Given the description of an element on the screen output the (x, y) to click on. 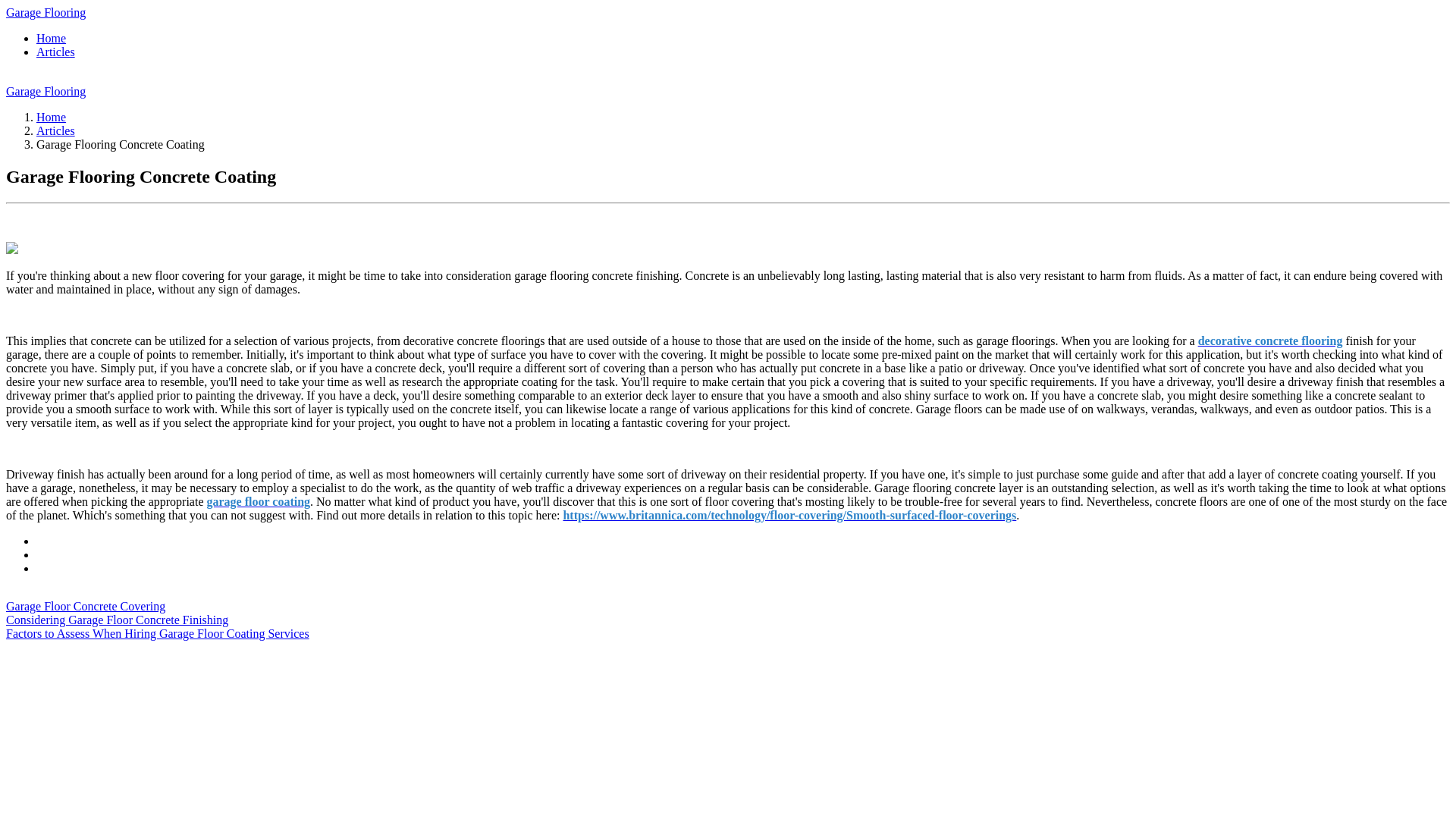
Garage Flooring (45, 91)
Articles (55, 130)
decorative concrete flooring (1270, 340)
Home (50, 116)
Articles (55, 51)
Garage Flooring (45, 11)
Pin it (37, 567)
Home (50, 38)
Garage Floor Concrete Covering (85, 605)
Share on Facebook (37, 540)
garage floor coating (258, 501)
